Given the description of an element on the screen output the (x, y) to click on. 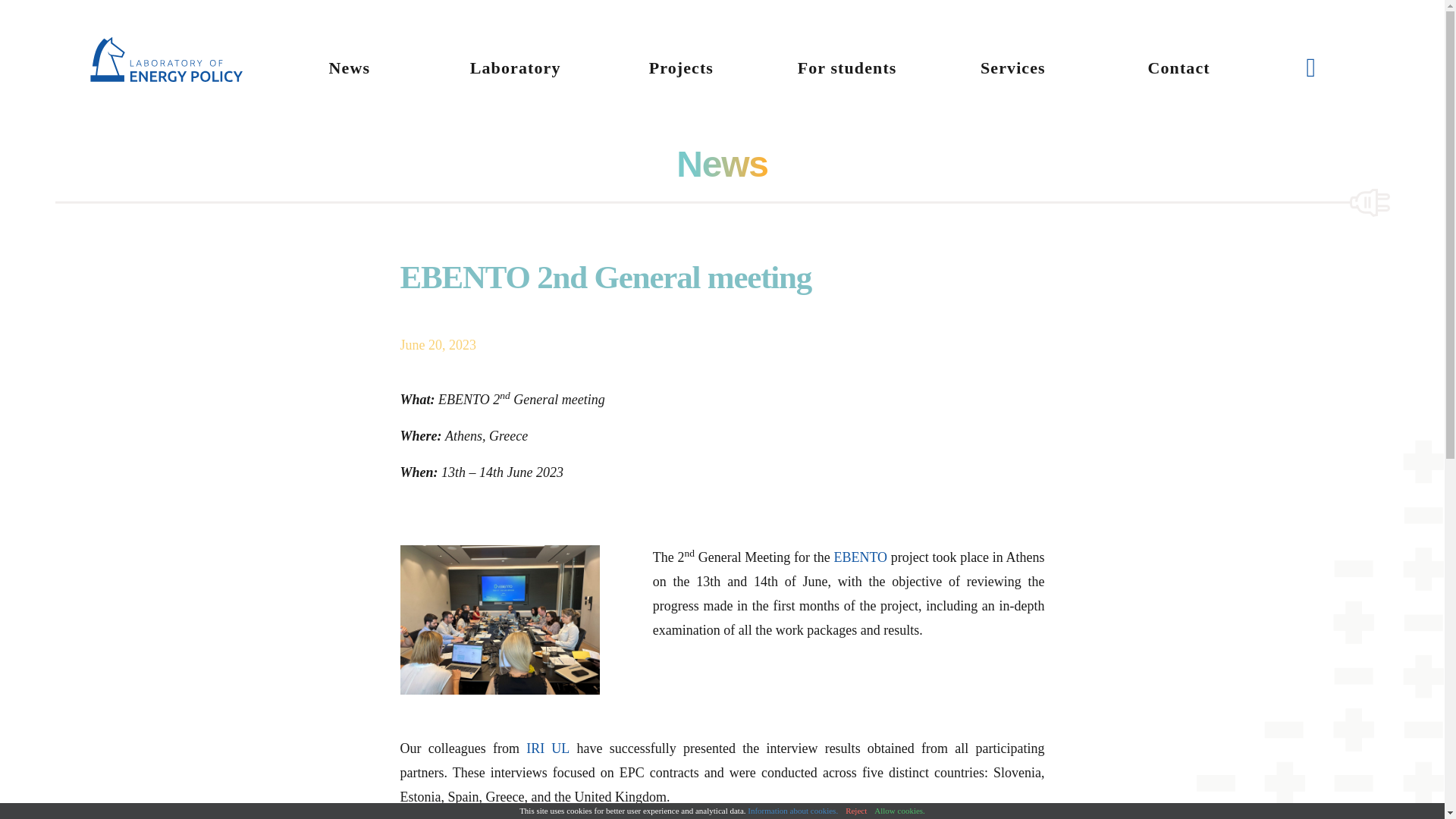
EBENTO (859, 557)
News (349, 67)
Projects (681, 67)
Services (1013, 67)
Reject (855, 810)
For students (847, 67)
Contact (1179, 67)
Laboratory (515, 67)
Allow cookies. (899, 810)
Information about cookies. (793, 810)
